Given the description of an element on the screen output the (x, y) to click on. 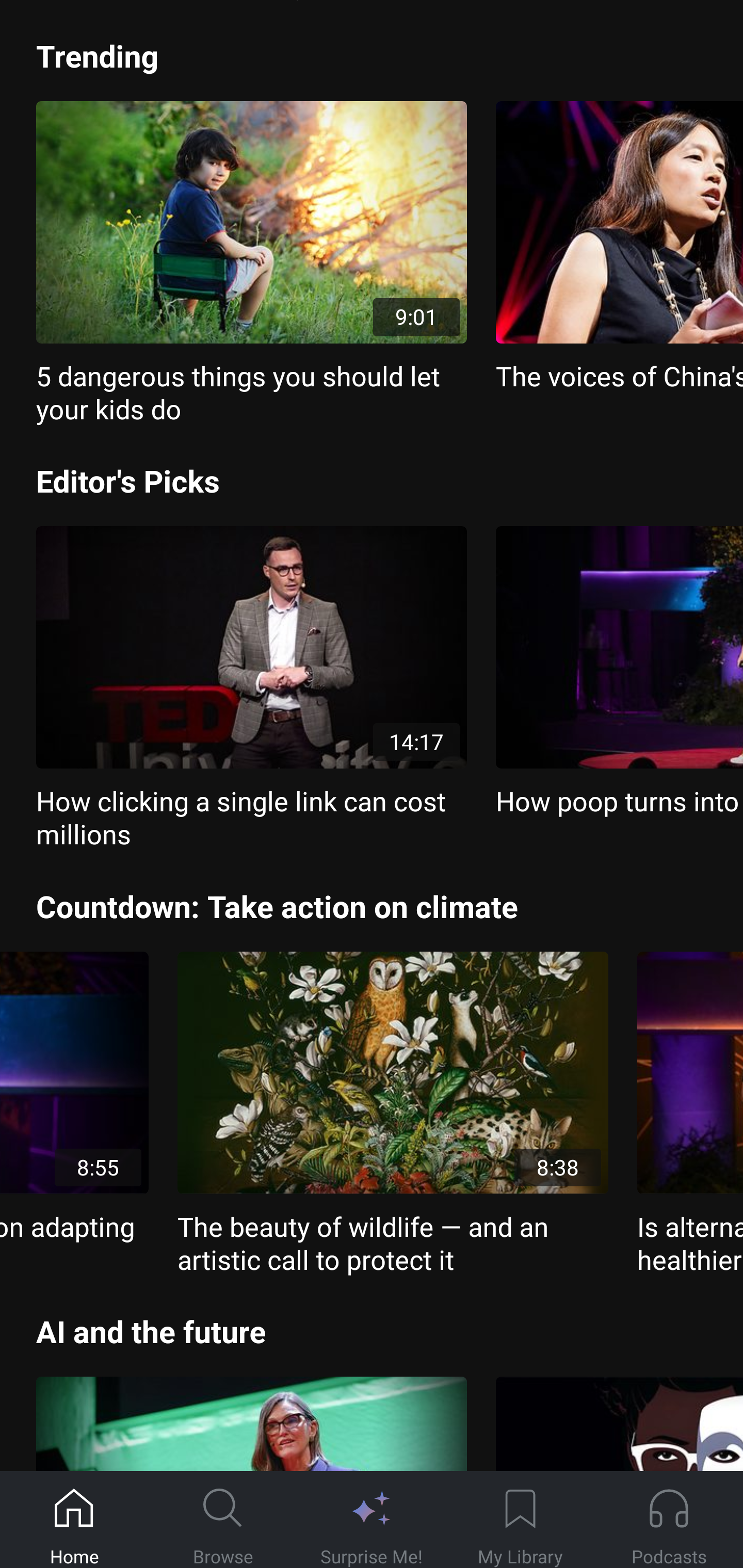
The voices of China's workers (619, 246)
14:17 How clicking a single link can cost millions (251, 688)
How poop turns into forests (619, 672)
Home (74, 1520)
Browse (222, 1520)
Surprise Me! (371, 1520)
My Library (519, 1520)
Podcasts (668, 1520)
